Given the description of an element on the screen output the (x, y) to click on. 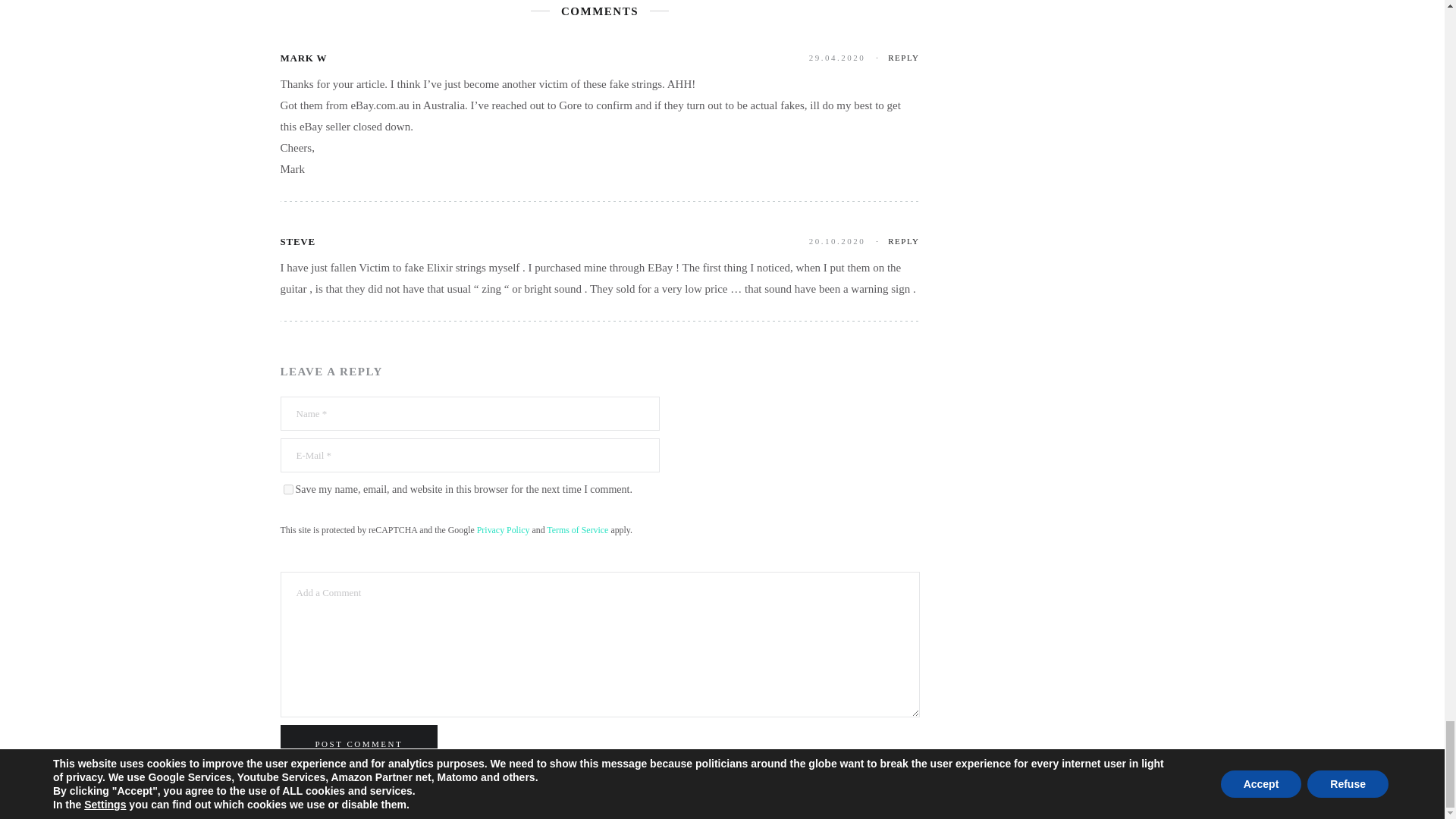
yes (288, 489)
Post comment (359, 743)
